Given the description of an element on the screen output the (x, y) to click on. 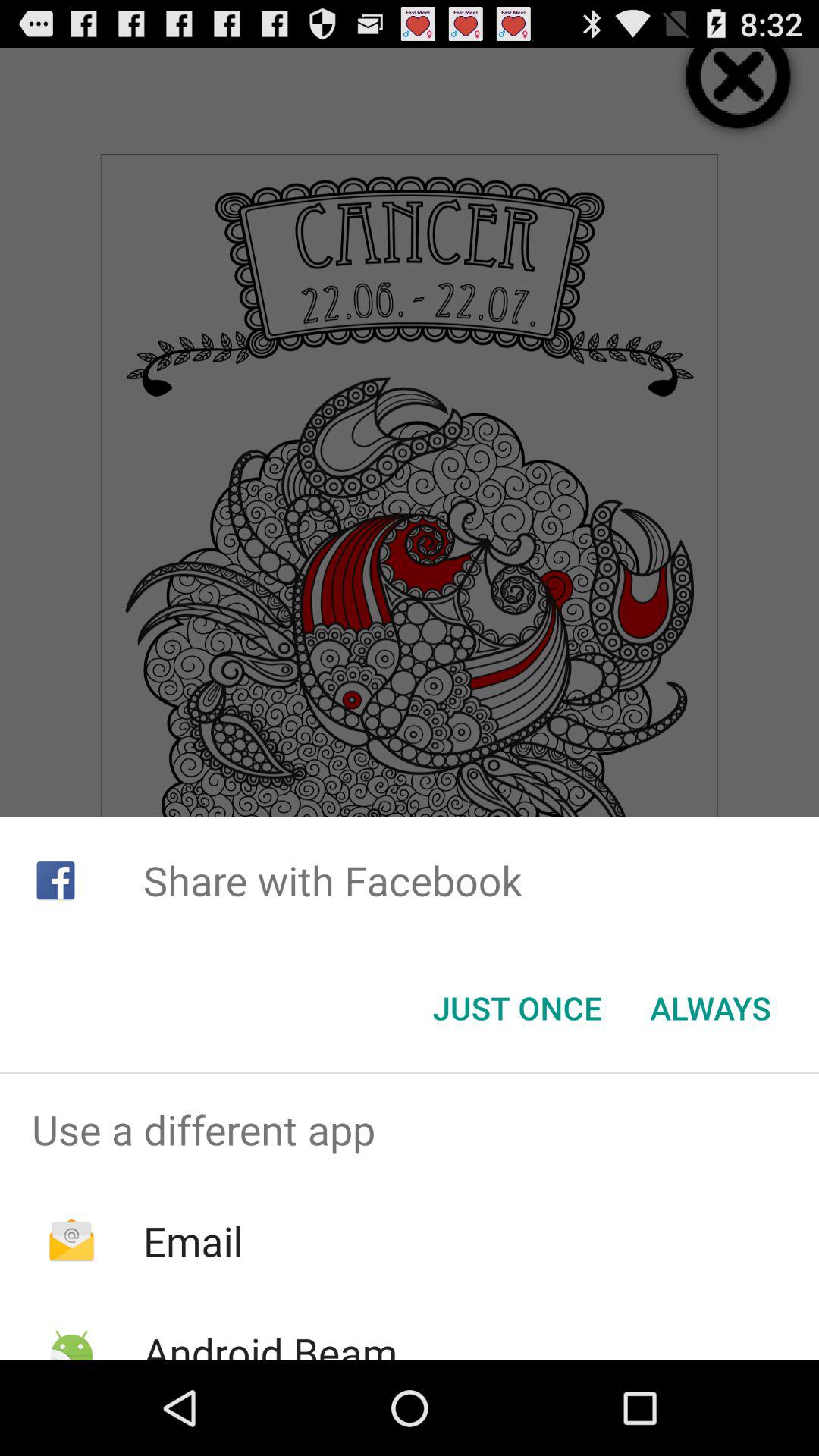
open the android beam app (270, 1342)
